Given the description of an element on the screen output the (x, y) to click on. 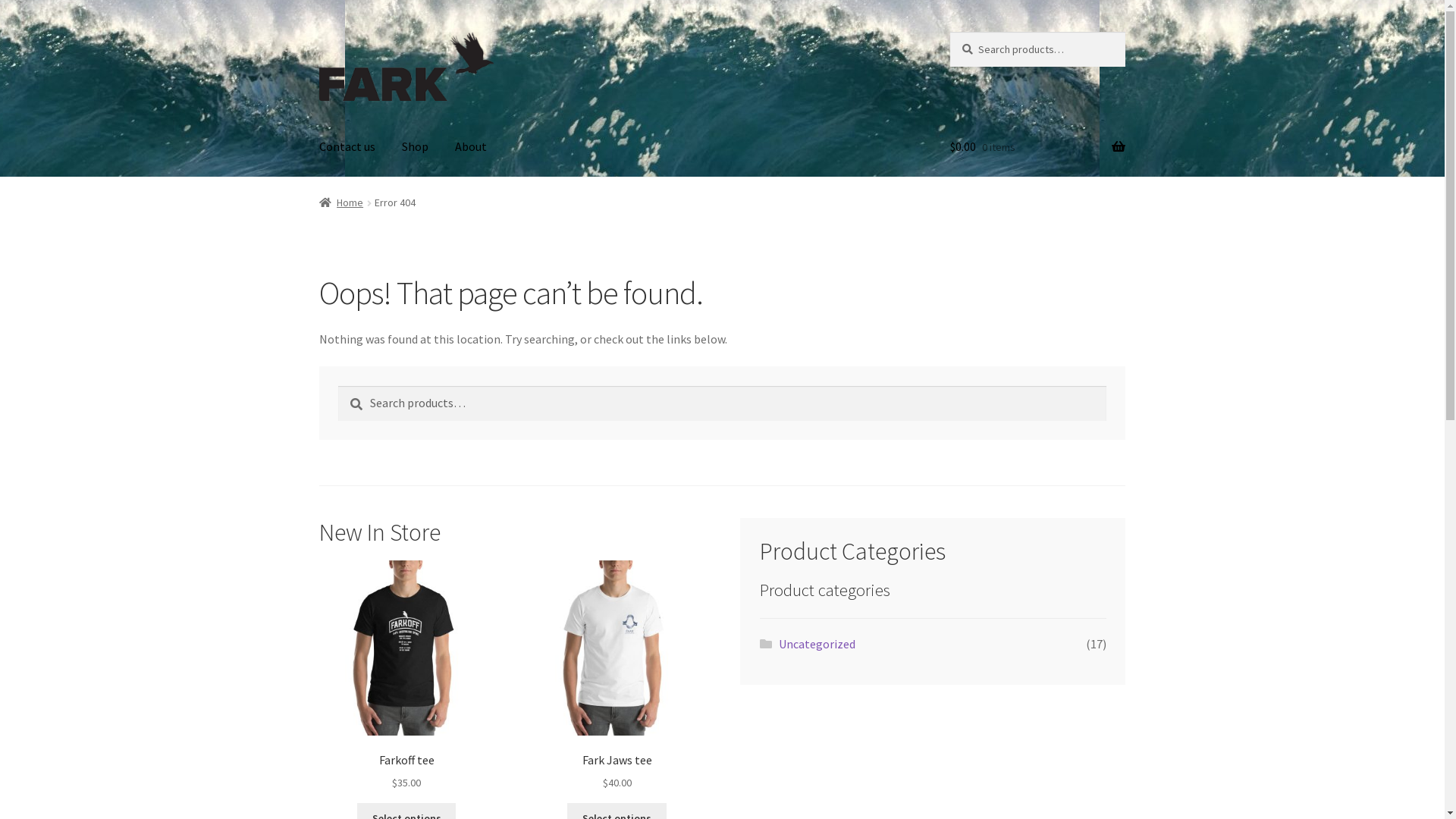
Search Element type: text (337, 385)
Home Element type: text (341, 202)
Skip to navigation Element type: text (318, 31)
$0.00 0 items Element type: text (1037, 146)
Contact us Element type: text (347, 146)
Uncategorized Element type: text (816, 643)
Shop Element type: text (414, 146)
Search Element type: text (949, 31)
About Element type: text (470, 146)
Farkoff tee
$35.00 Element type: text (406, 675)
Fark Jaws tee
$40.00 Element type: text (616, 675)
